Given the description of an element on the screen output the (x, y) to click on. 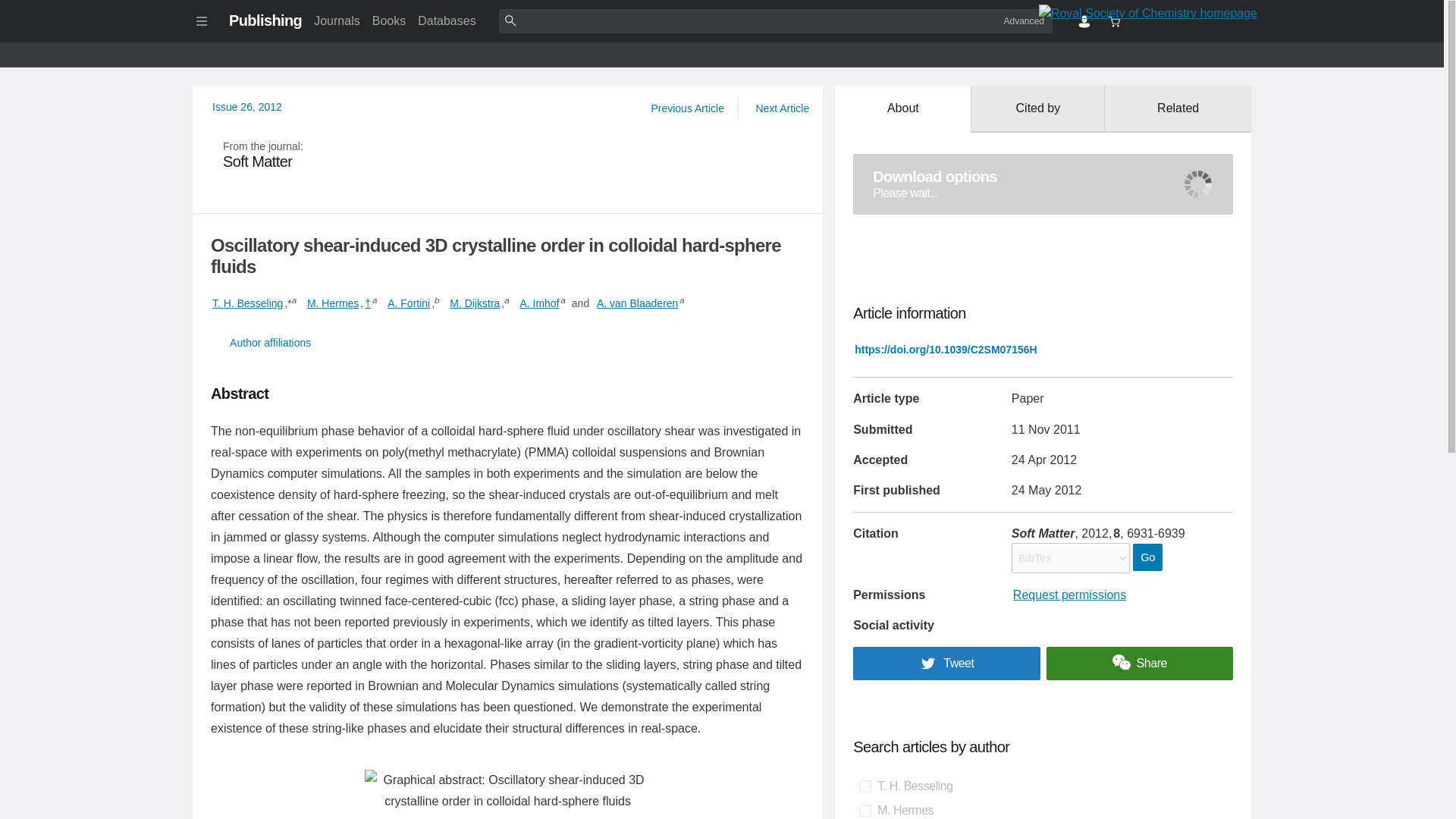
on (864, 786)
M. Dijkstra (474, 303)
Journals (336, 20)
Author affiliations (508, 342)
Request permissions (1068, 594)
Issue 26, 2012 (247, 106)
Go (1146, 556)
A. van Blaaderen (637, 303)
M. Hermes (332, 303)
Go (1146, 556)
A. Imhof (539, 303)
Databases (446, 20)
A. Fortini (407, 303)
Related (1177, 108)
Publishing home page (264, 20)
